Given the description of an element on the screen output the (x, y) to click on. 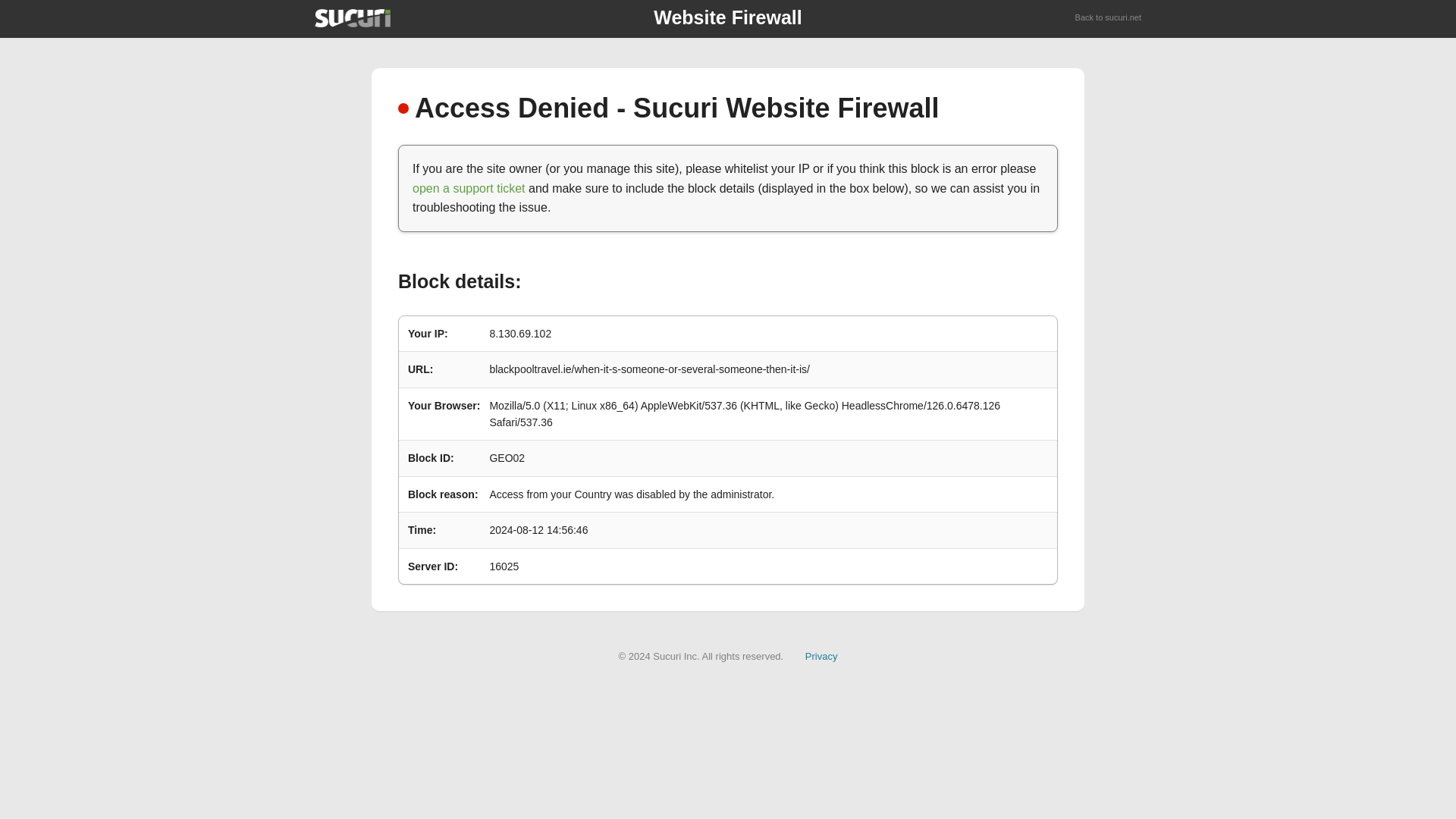
Privacy (821, 655)
Back to sucuri.net (1108, 18)
open a support ticket (468, 187)
